Given the description of an element on the screen output the (x, y) to click on. 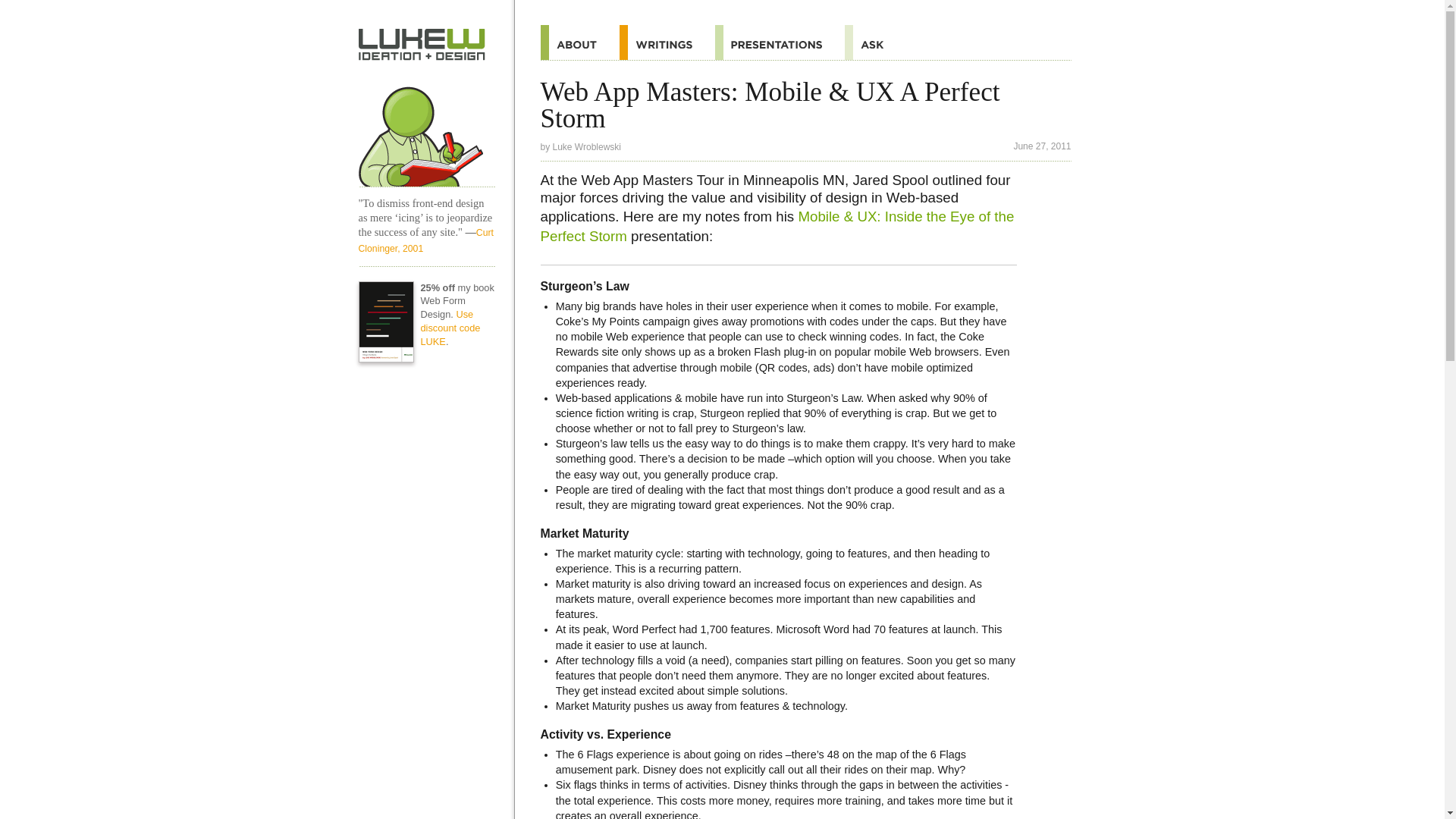
Presentations (779, 42)
Luke Wroblewski (587, 146)
Ask (874, 42)
Use discount code LUKE (450, 327)
About (579, 42)
Home (421, 44)
Quotes (666, 42)
Home (426, 129)
Curt Cloninger, 2001 (425, 240)
